Given the description of an element on the screen output the (x, y) to click on. 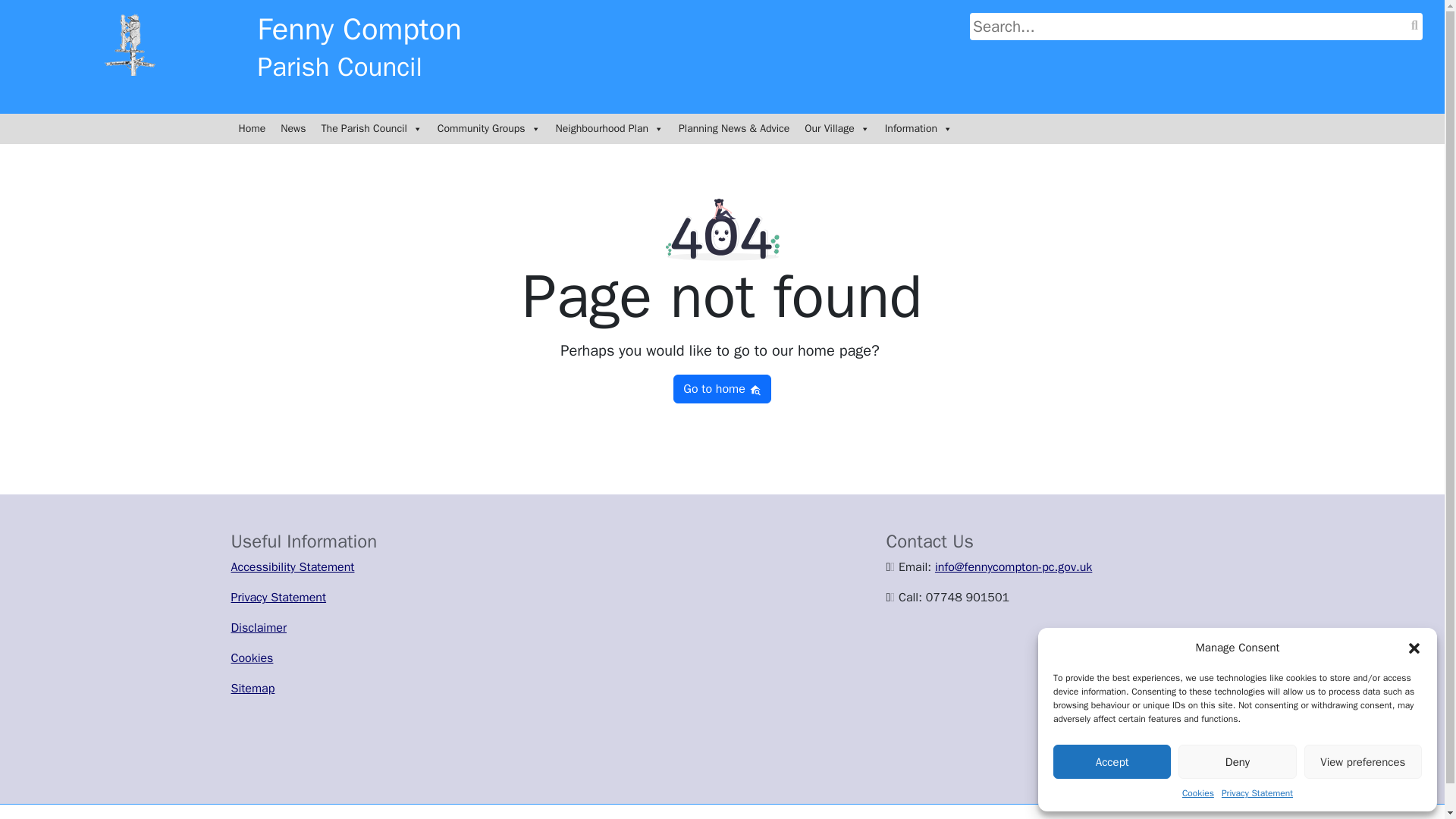
Home (251, 128)
Cookies (1198, 793)
View preferences (1363, 761)
Privacy Statement (1256, 793)
The Parish Council (371, 128)
News (293, 128)
Deny (1236, 761)
Accept (1111, 761)
